Given the description of an element on the screen output the (x, y) to click on. 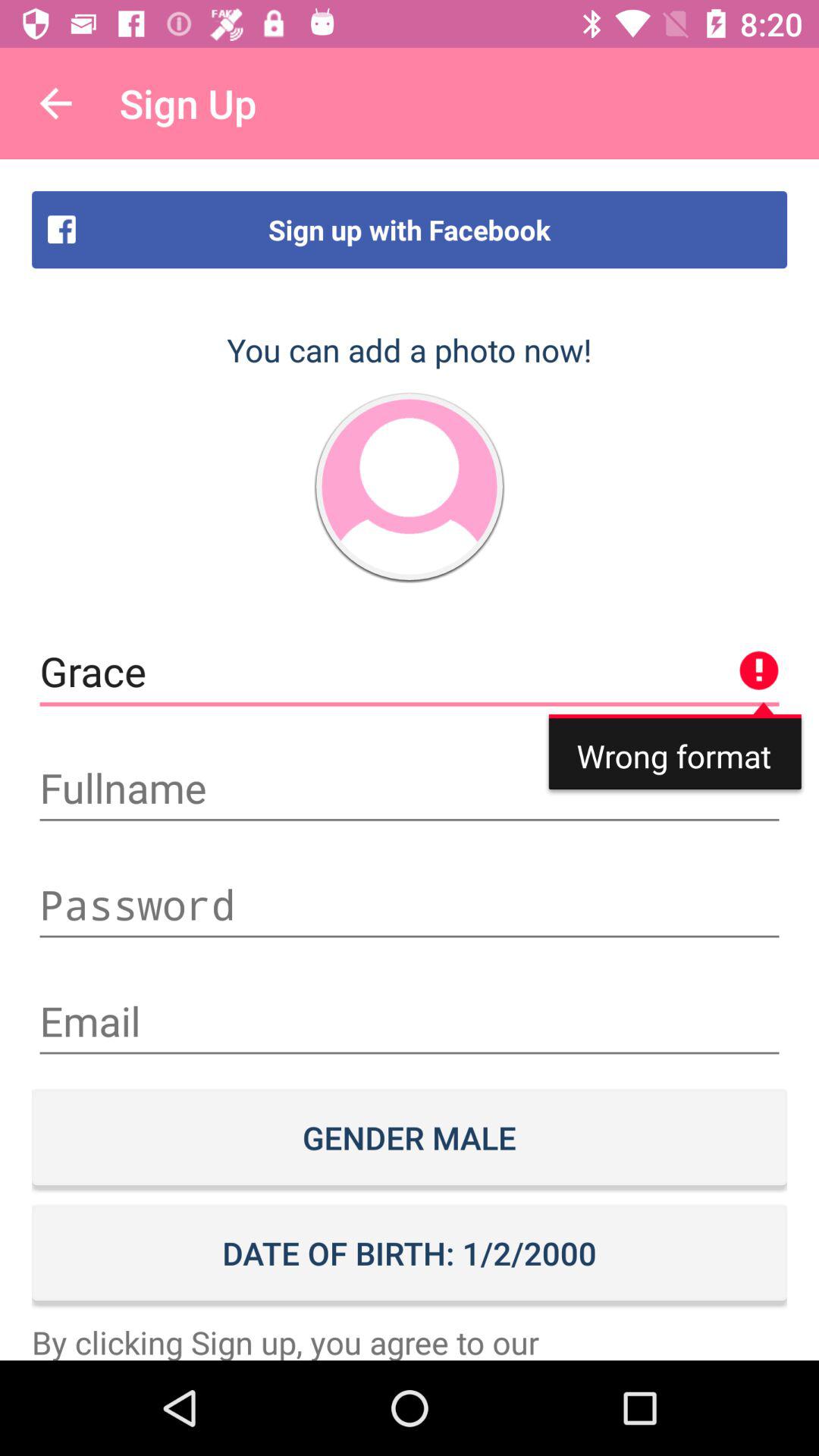
email (409, 1021)
